Given the description of an element on the screen output the (x, y) to click on. 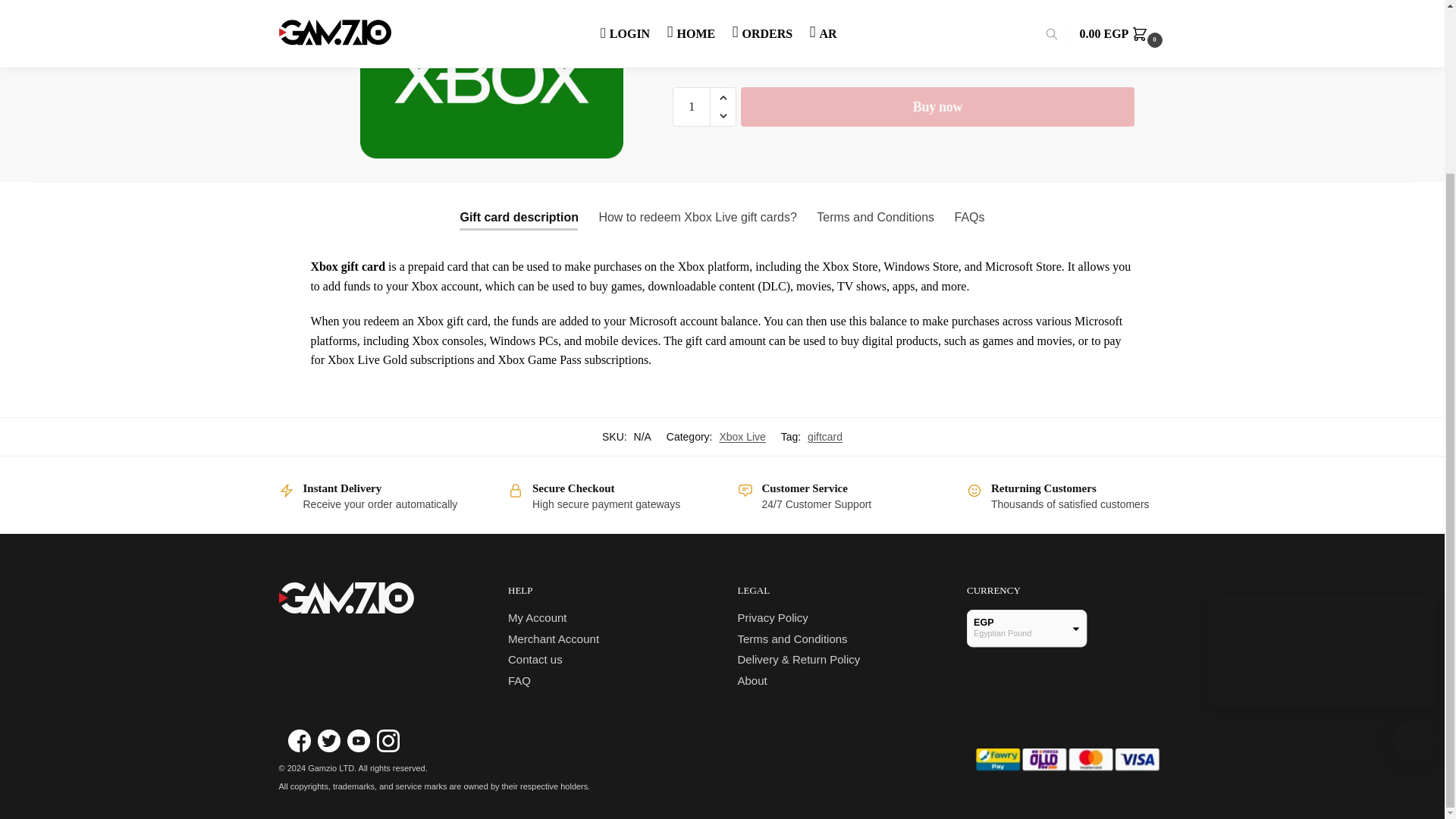
1 (691, 104)
Contact us (535, 658)
Terms and Conditions (791, 638)
giftcard (825, 436)
Gift card description (518, 217)
Xbox Live (742, 436)
Smartsupp widget button (1414, 530)
How to redeem Xbox Live gift cards? (697, 217)
My Account (537, 617)
Merchant Account (553, 638)
click to zoom-in (491, 79)
Buy now (937, 104)
Terms and Conditions (875, 217)
About (751, 680)
FAQ (519, 680)
